Given the description of an element on the screen output the (x, y) to click on. 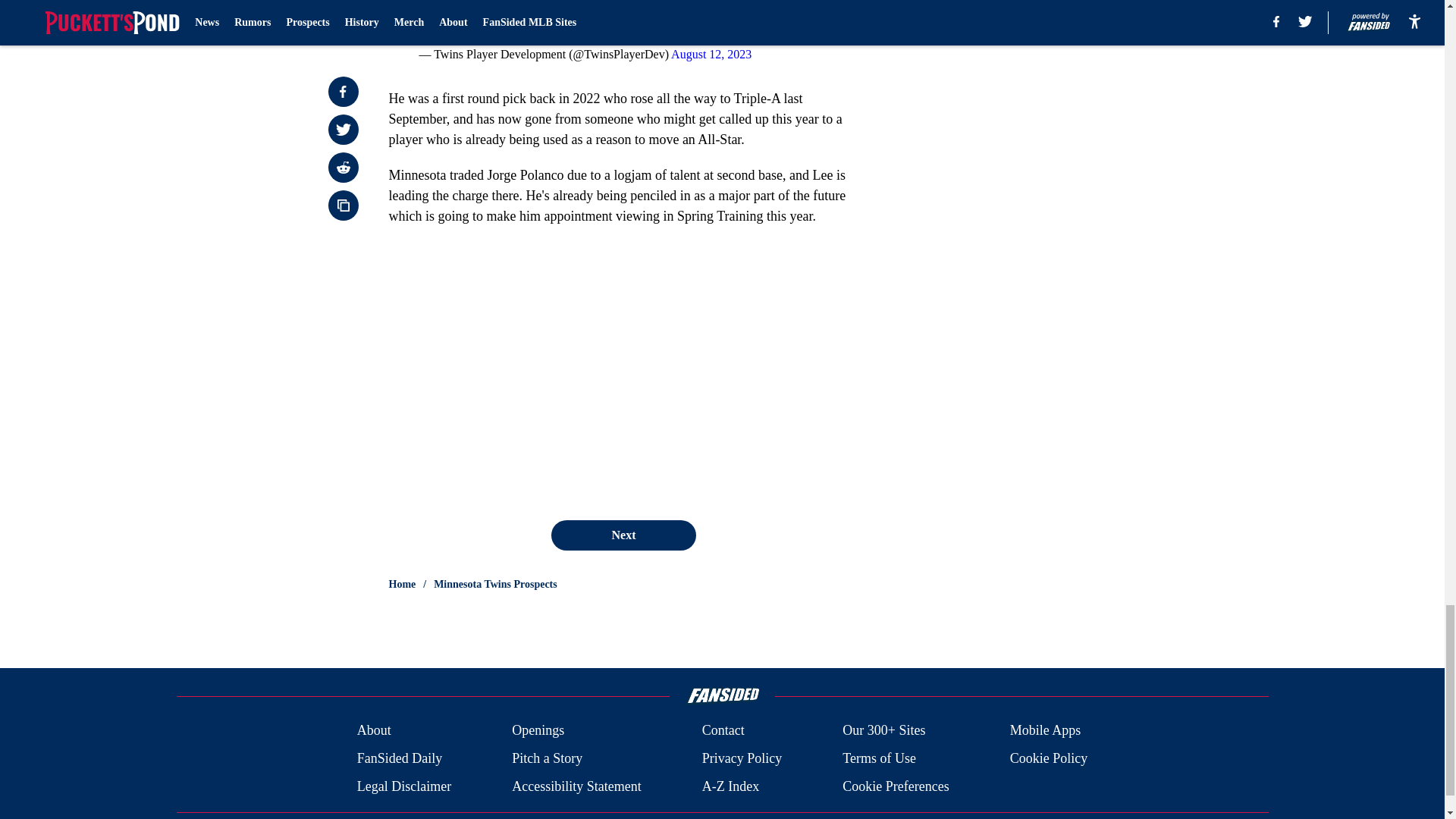
Openings (538, 730)
FanSided Daily (399, 758)
Mobile Apps (1045, 730)
Contact (722, 730)
Home (401, 584)
Minnesota Twins Prospects (495, 584)
August 12, 2023 (711, 53)
About (373, 730)
Next (622, 535)
Pitch a Story (547, 758)
